Given the description of an element on the screen output the (x, y) to click on. 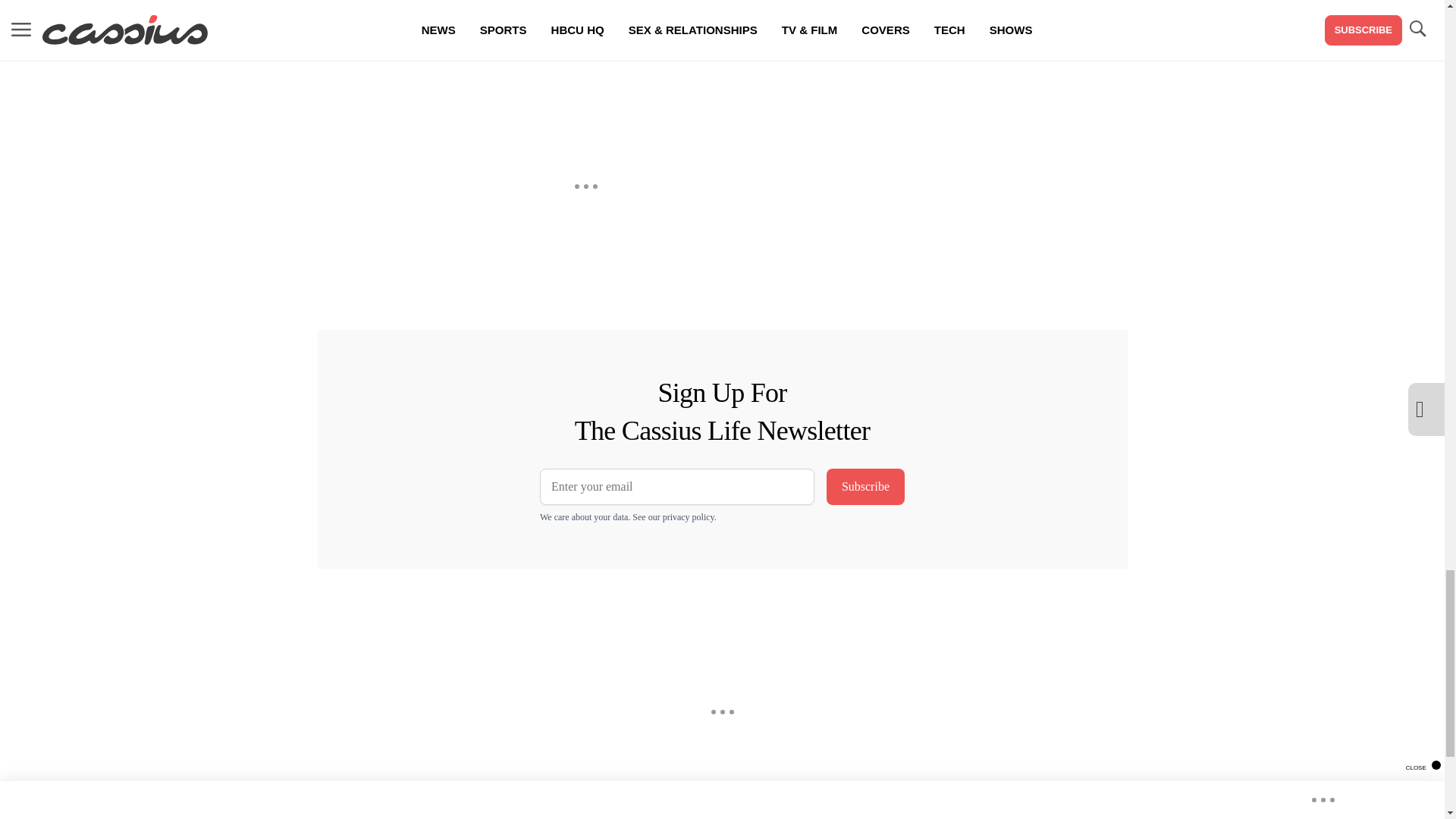
Here's How to Make Your Girl Squirt (585, 28)
